Given the description of an element on the screen output the (x, y) to click on. 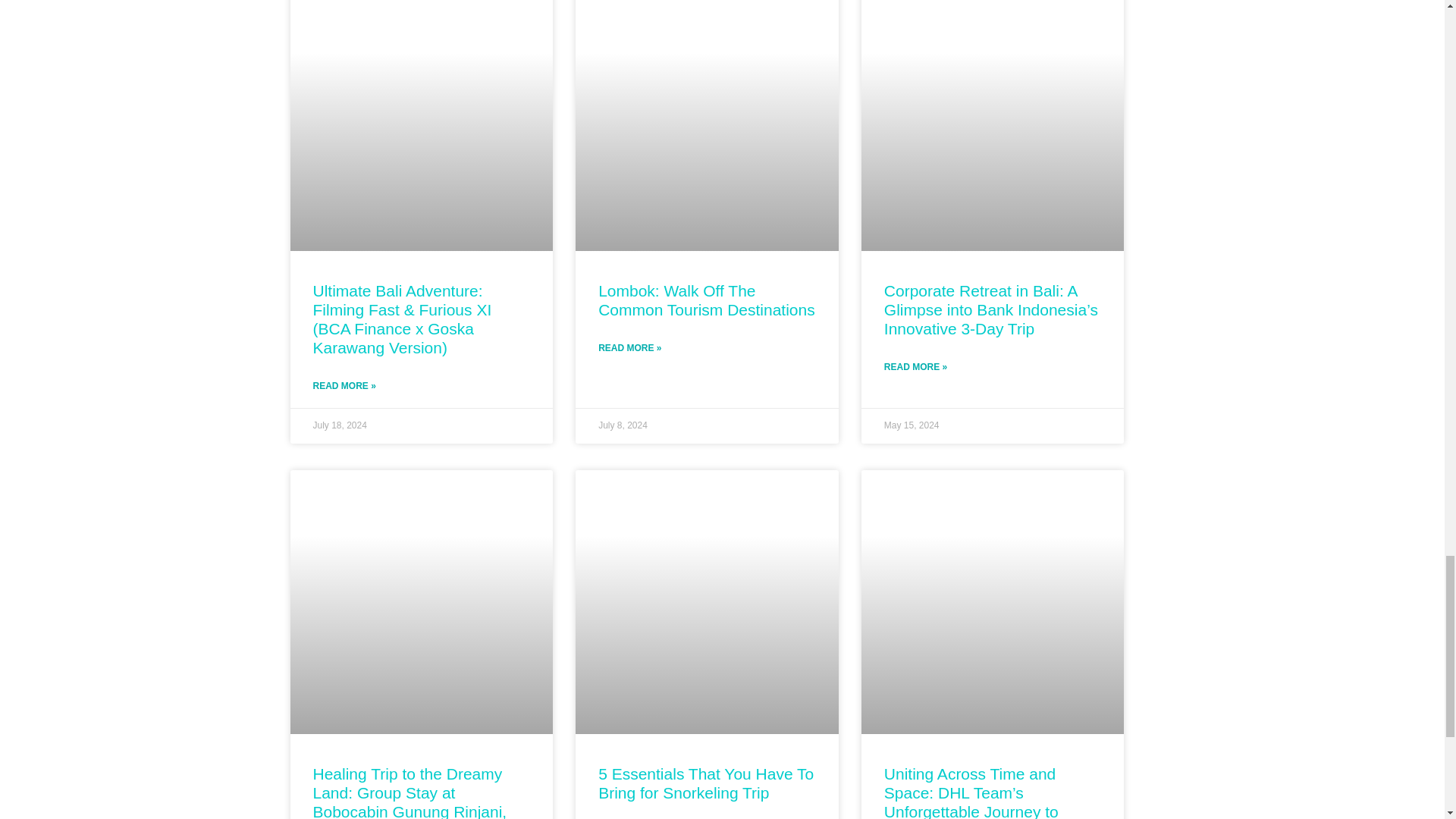
Lombok: Walk Off The Common Tourism Destinations (706, 299)
